Given the description of an element on the screen output the (x, y) to click on. 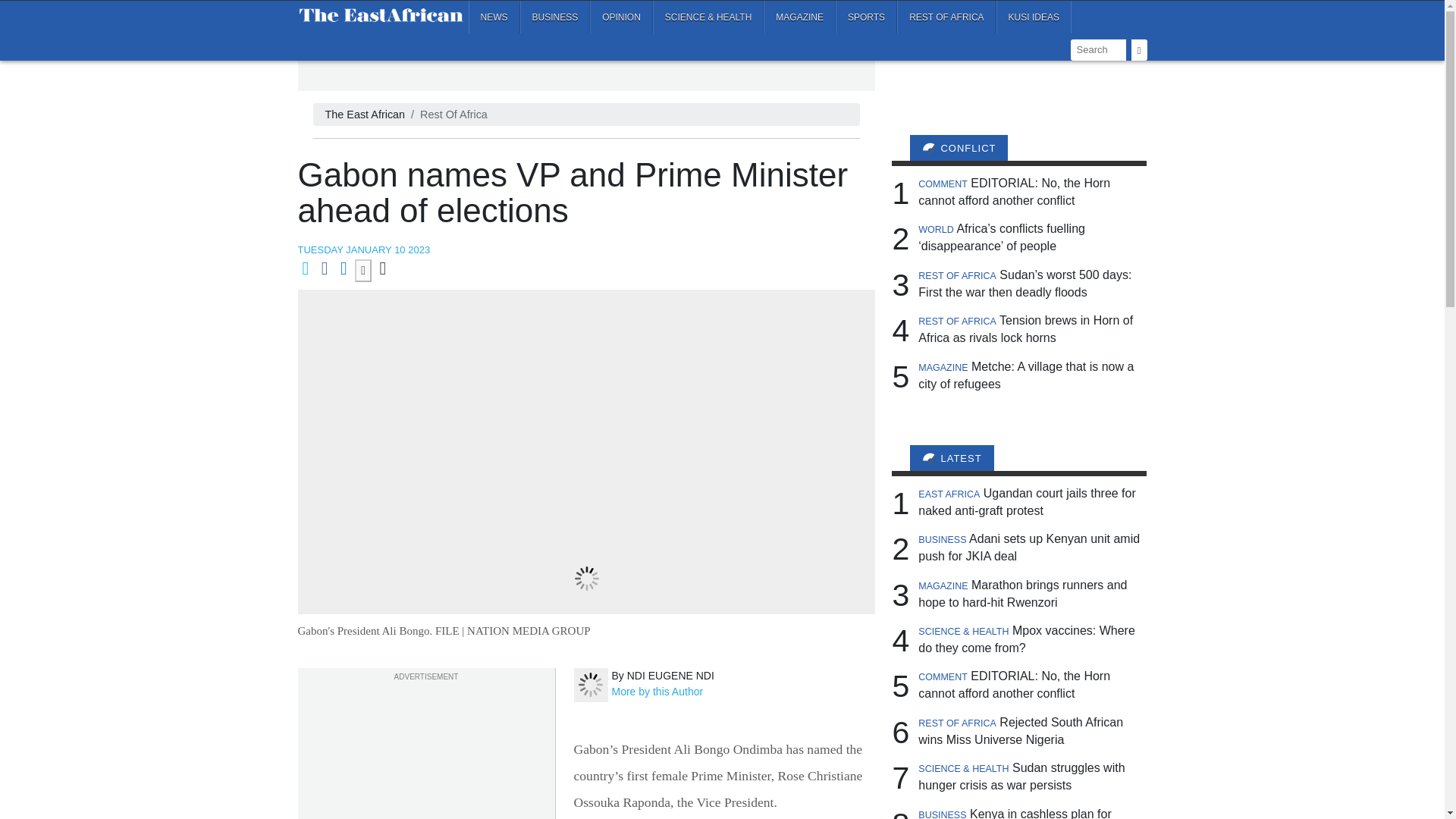
NEWS (493, 16)
OPINION (620, 16)
SPORTS (865, 16)
BUSINESS (555, 16)
MAGAZINE (798, 16)
